Given the description of an element on the screen output the (x, y) to click on. 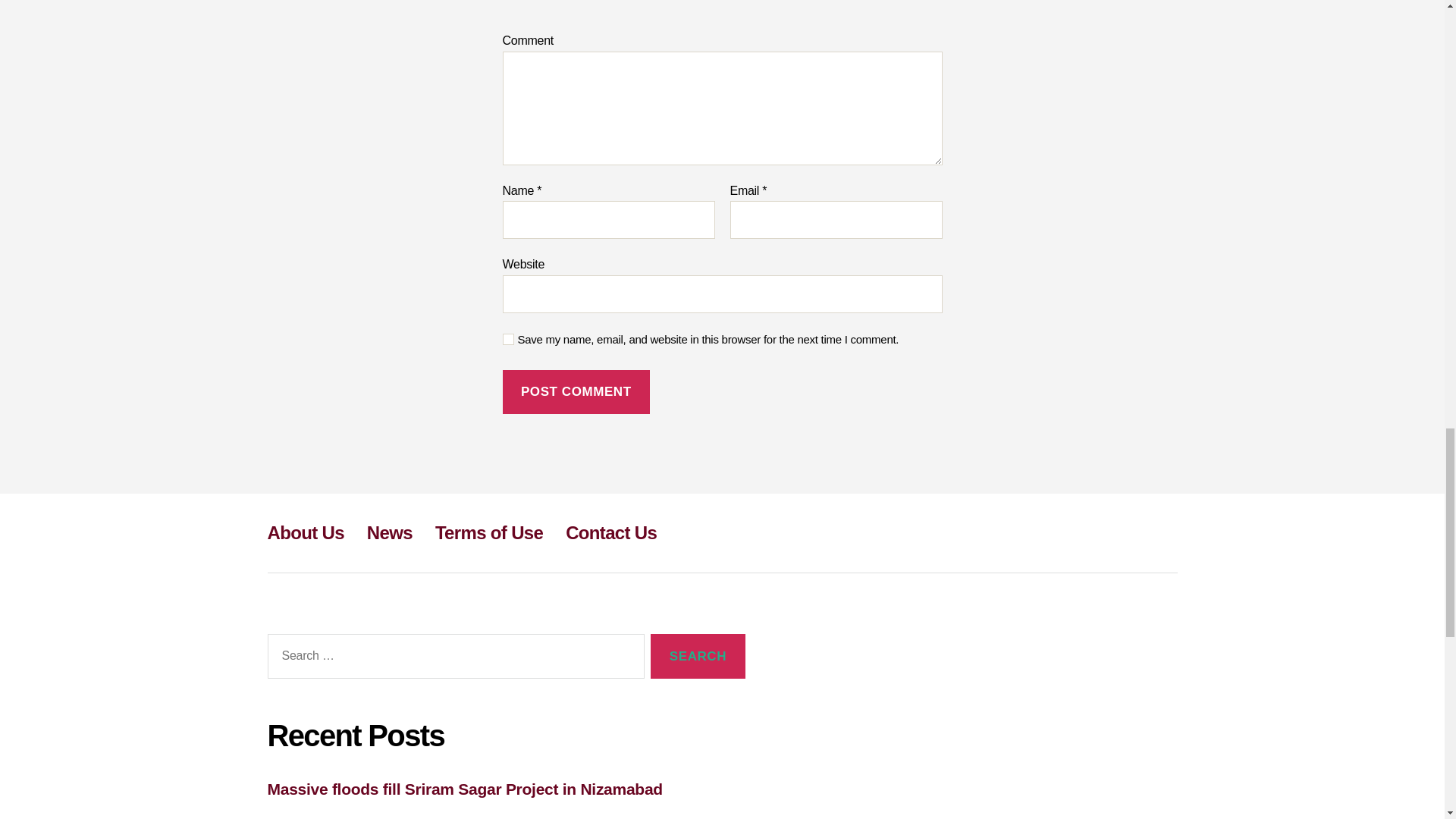
Search (697, 655)
About Us (304, 532)
Search (697, 655)
yes (507, 338)
Post Comment (575, 392)
Contact Us (611, 532)
Terms of Use (489, 532)
Post Comment (575, 392)
News (389, 532)
